Given the description of an element on the screen output the (x, y) to click on. 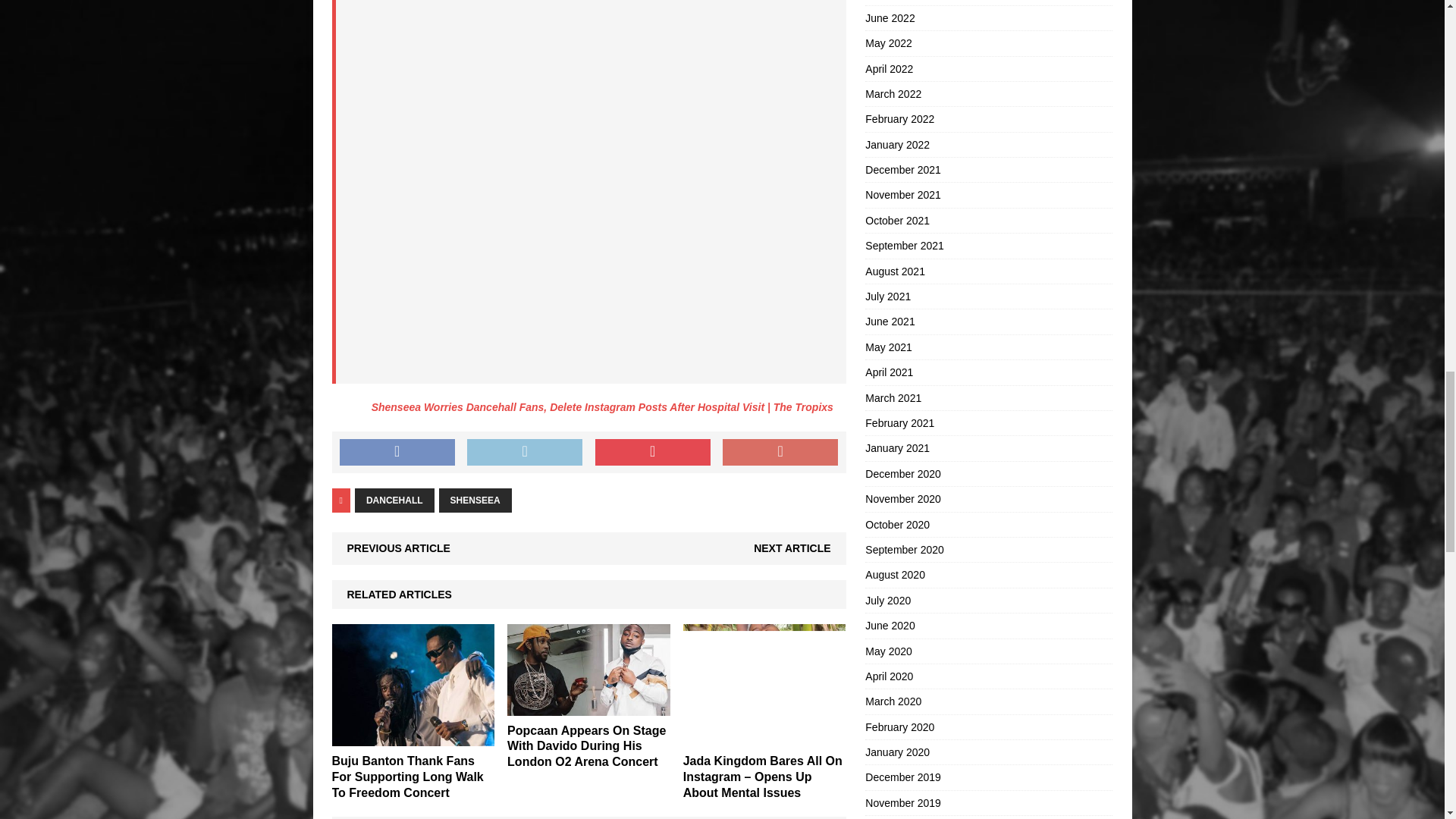
Pin This Post (652, 452)
Tweet This Post (524, 452)
NEXT ARTICLE (791, 548)
DANCEHALL (394, 500)
SHENSEEA (475, 500)
Share on Facebook (396, 452)
